Given the description of an element on the screen output the (x, y) to click on. 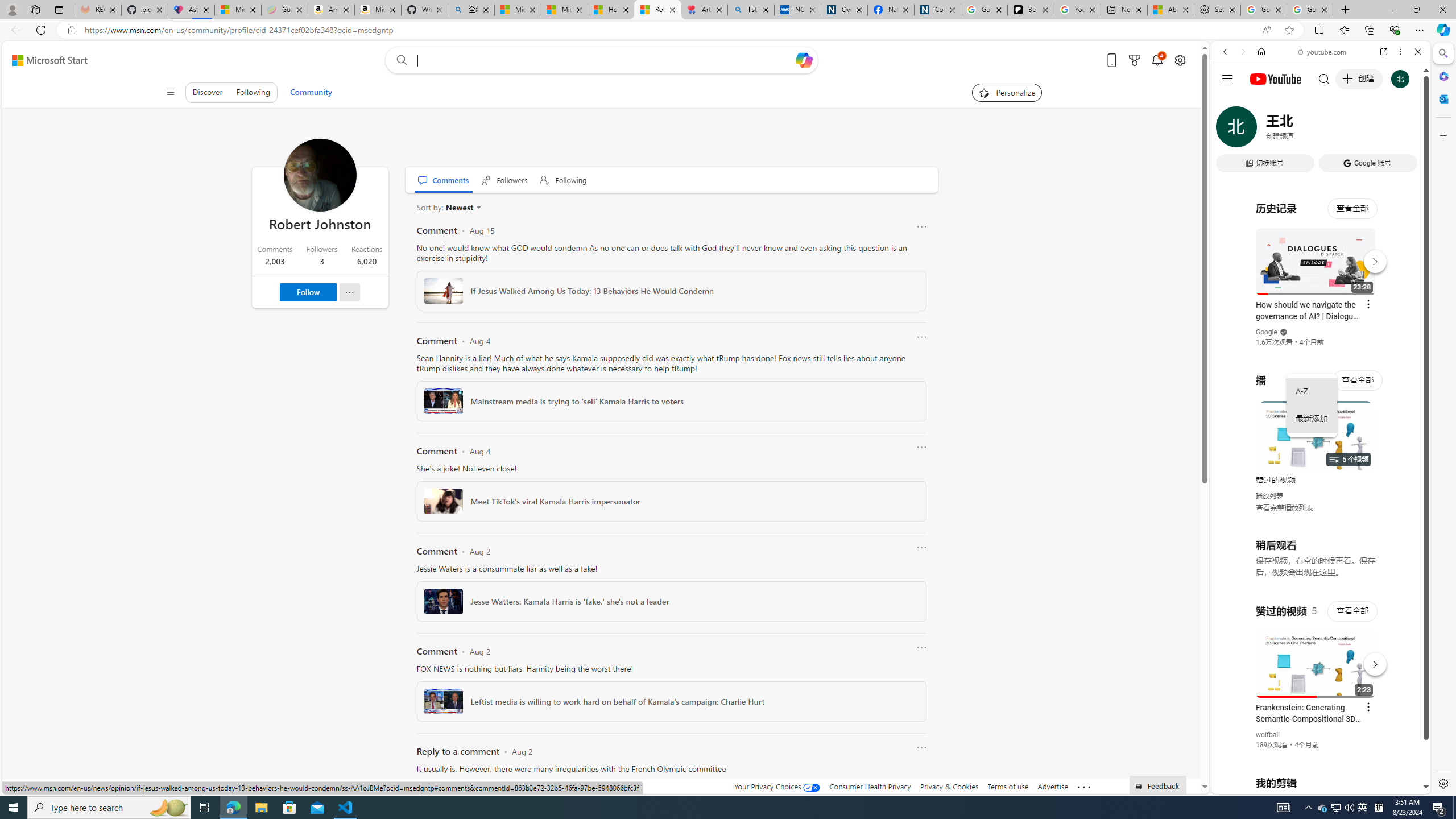
Your Privacy Choices (777, 786)
 Comments (443, 179)
you (1315, 755)
 Following (564, 179)
